Given the description of an element on the screen output the (x, y) to click on. 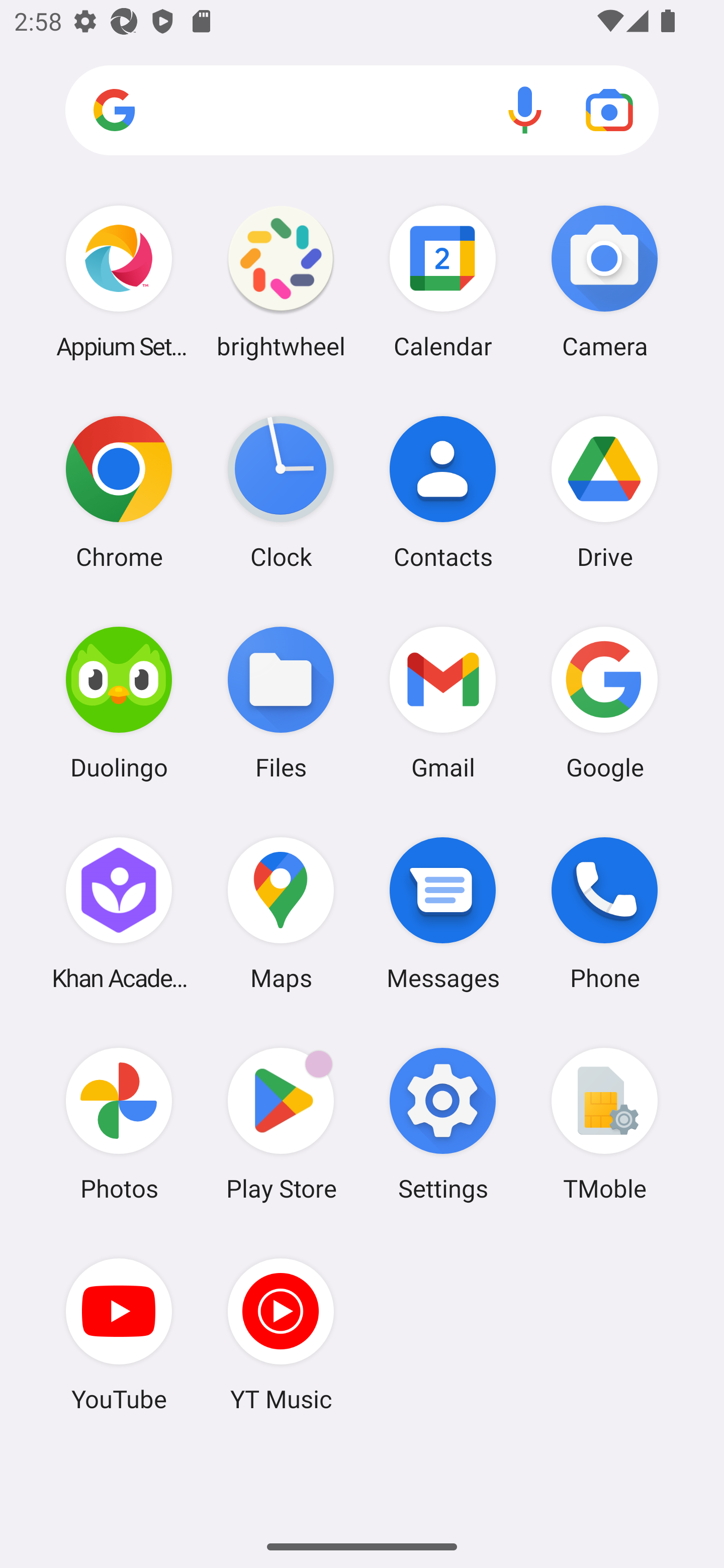
Voice search (524, 109)
Google Lens (608, 109)
Appium Settings (118, 281)
brightwheel (280, 281)
Calendar (443, 281)
Camera (604, 281)
Chrome (118, 492)
Clock (280, 492)
Contacts (443, 492)
Drive (604, 492)
Duolingo (118, 702)
Files (280, 702)
Gmail (443, 702)
Google (604, 702)
Khan Academy (118, 913)
Maps (280, 913)
Messages (443, 913)
Phone (604, 913)
Photos (118, 1124)
Play Store Play Store has 1 notification (280, 1124)
Settings (443, 1124)
TMoble (604, 1124)
YouTube (118, 1334)
YT Music (280, 1334)
